Given the description of an element on the screen output the (x, y) to click on. 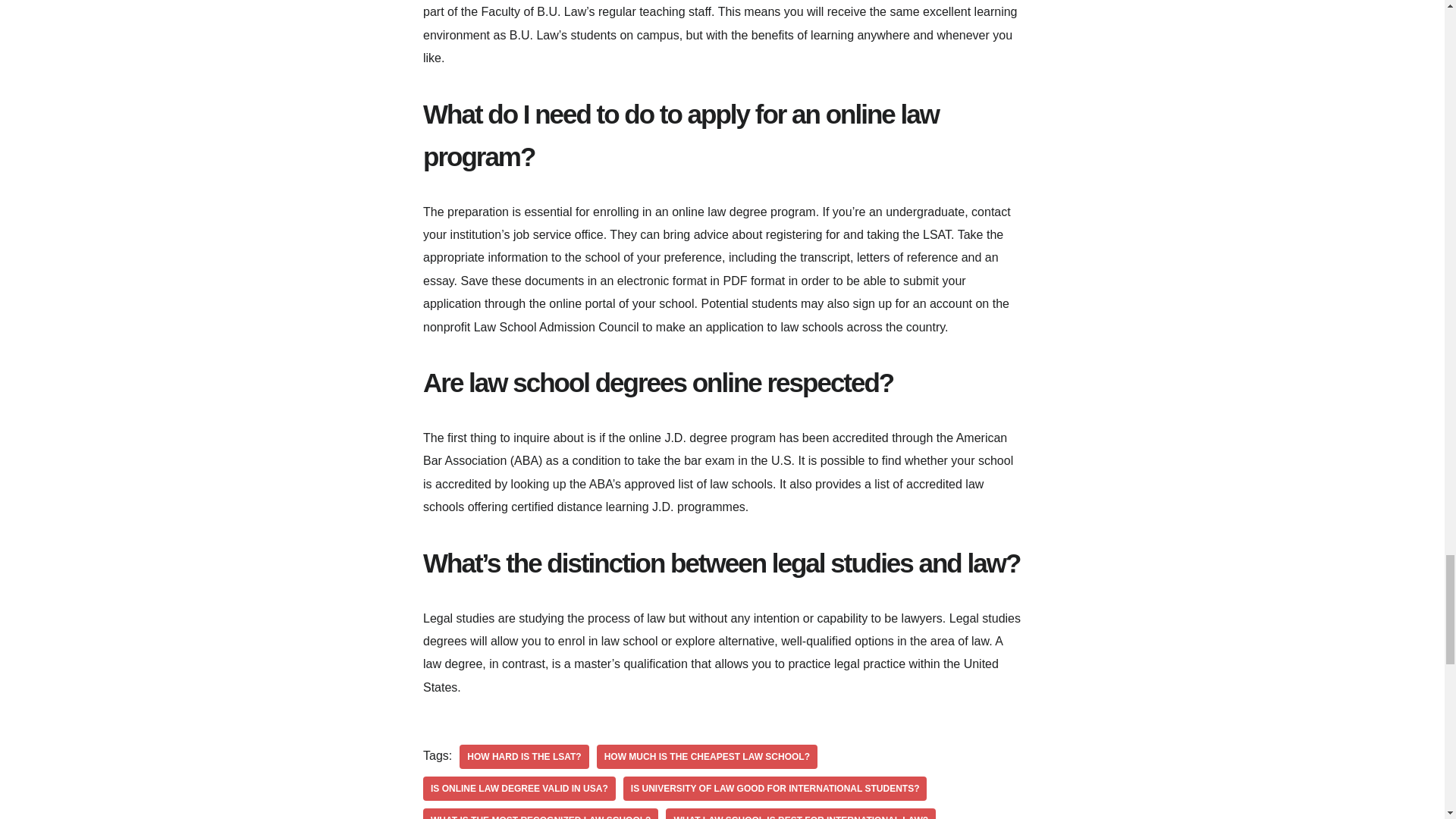
How much is the cheapest law school? (706, 756)
Is online law degree valid in USA? (519, 788)
What law school is best for international law? (800, 813)
What is the most recognized law school? (540, 813)
IS UNIVERSITY OF LAW GOOD FOR INTERNATIONAL STUDENTS? (775, 788)
WHAT LAW SCHOOL IS BEST FOR INTERNATIONAL LAW? (800, 813)
HOW MUCH IS THE CHEAPEST LAW SCHOOL? (706, 756)
HOW HARD IS THE LSAT? (524, 756)
How hard is the LSAT? (524, 756)
WHAT IS THE MOST RECOGNIZED LAW SCHOOL? (540, 813)
